Given the description of an element on the screen output the (x, y) to click on. 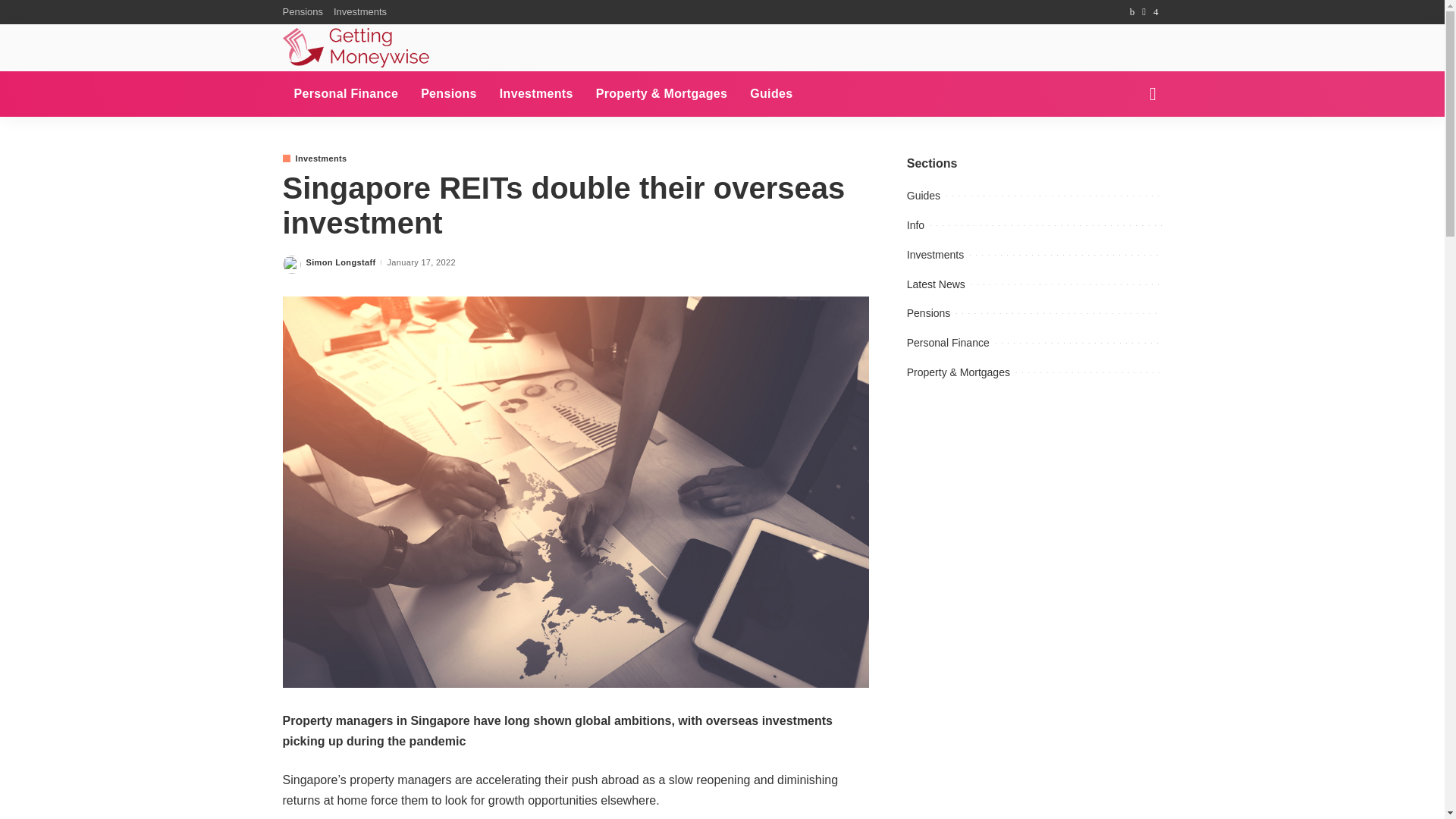
Investments (536, 94)
Investments (314, 158)
Investments (360, 11)
Pensions (304, 11)
Search (1140, 11)
Guides (770, 94)
Search (1140, 147)
Simon Longstaff (340, 262)
Personal Finance (345, 94)
Pensions (448, 94)
